Given the description of an element on the screen output the (x, y) to click on. 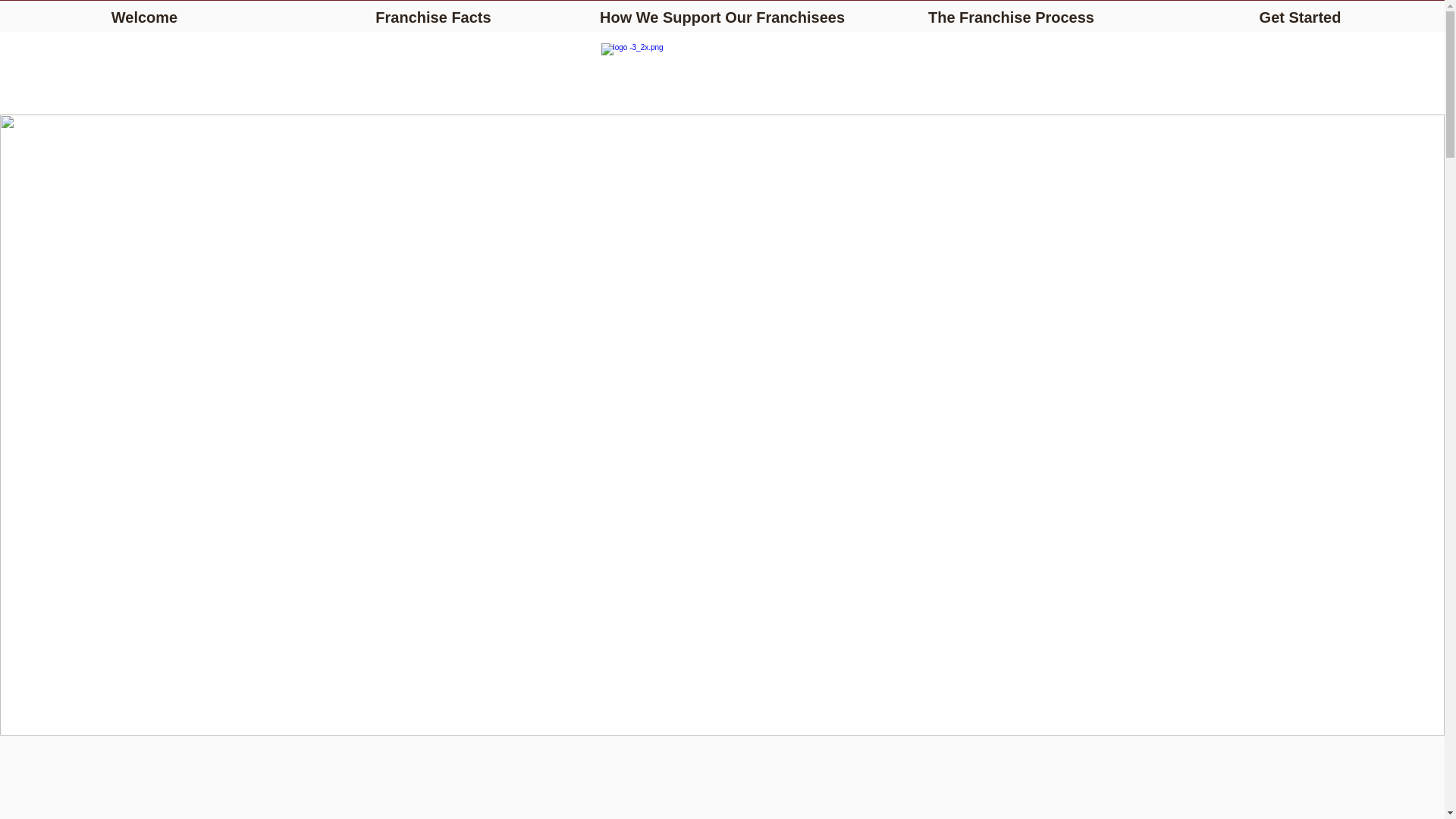
How We Support Our Franchisees (722, 10)
Welcome (144, 10)
Franchise Facts (433, 10)
The Franchise Process (1011, 10)
